Given the description of an element on the screen output the (x, y) to click on. 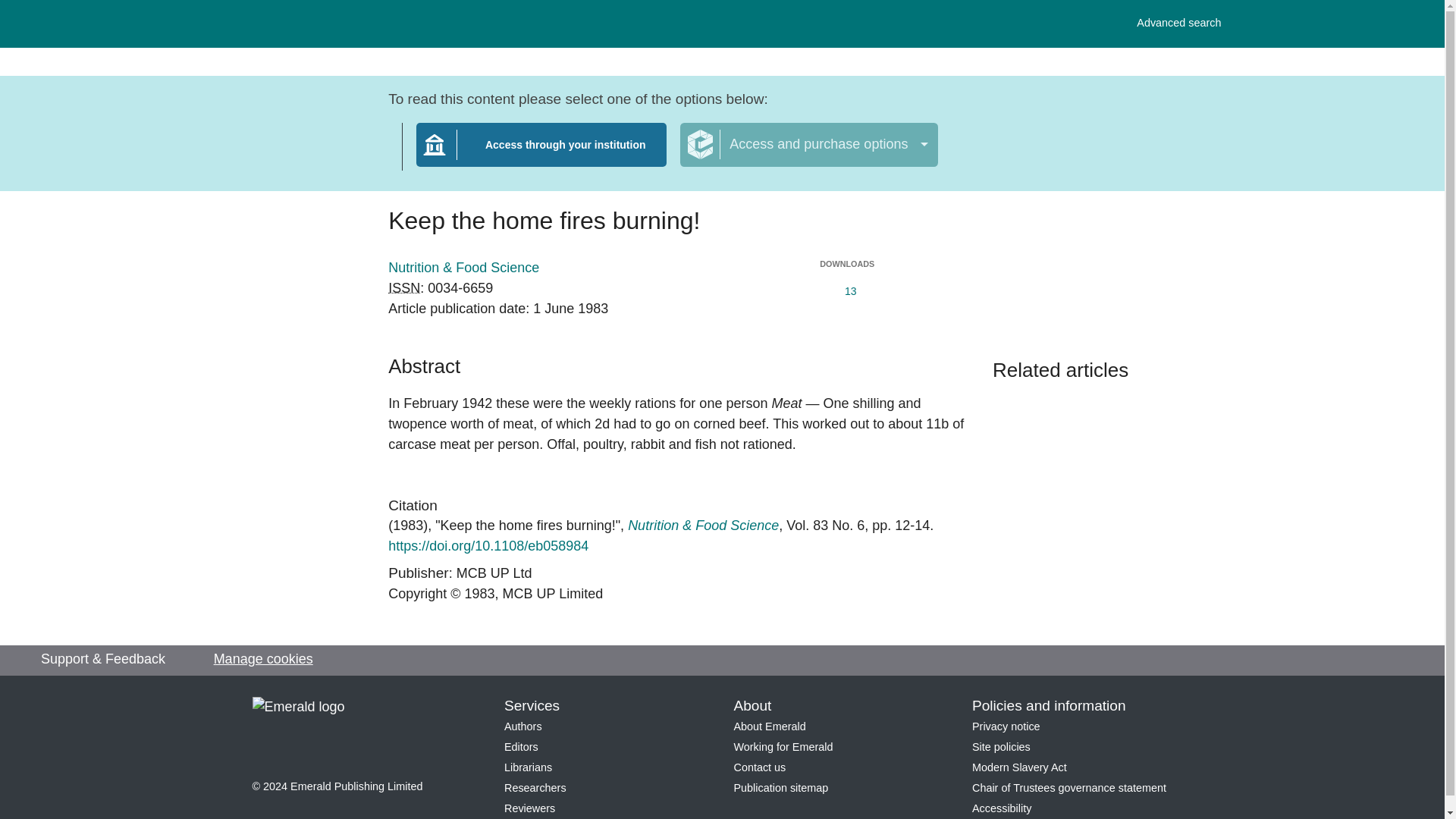
Site policies (1178, 23)
Chair of Trustees governance statement (1001, 746)
Authors (1069, 787)
Accessibility (522, 726)
Modern Slavery Act (1001, 808)
Access through your institution (1019, 767)
Reviewers (541, 153)
Editors (528, 808)
Manage cookies (520, 746)
Publication sitemap (263, 659)
Librarians (780, 787)
Working for Emerald (527, 767)
About Emerald (782, 746)
Privacy notice (769, 726)
